Given the description of an element on the screen output the (x, y) to click on. 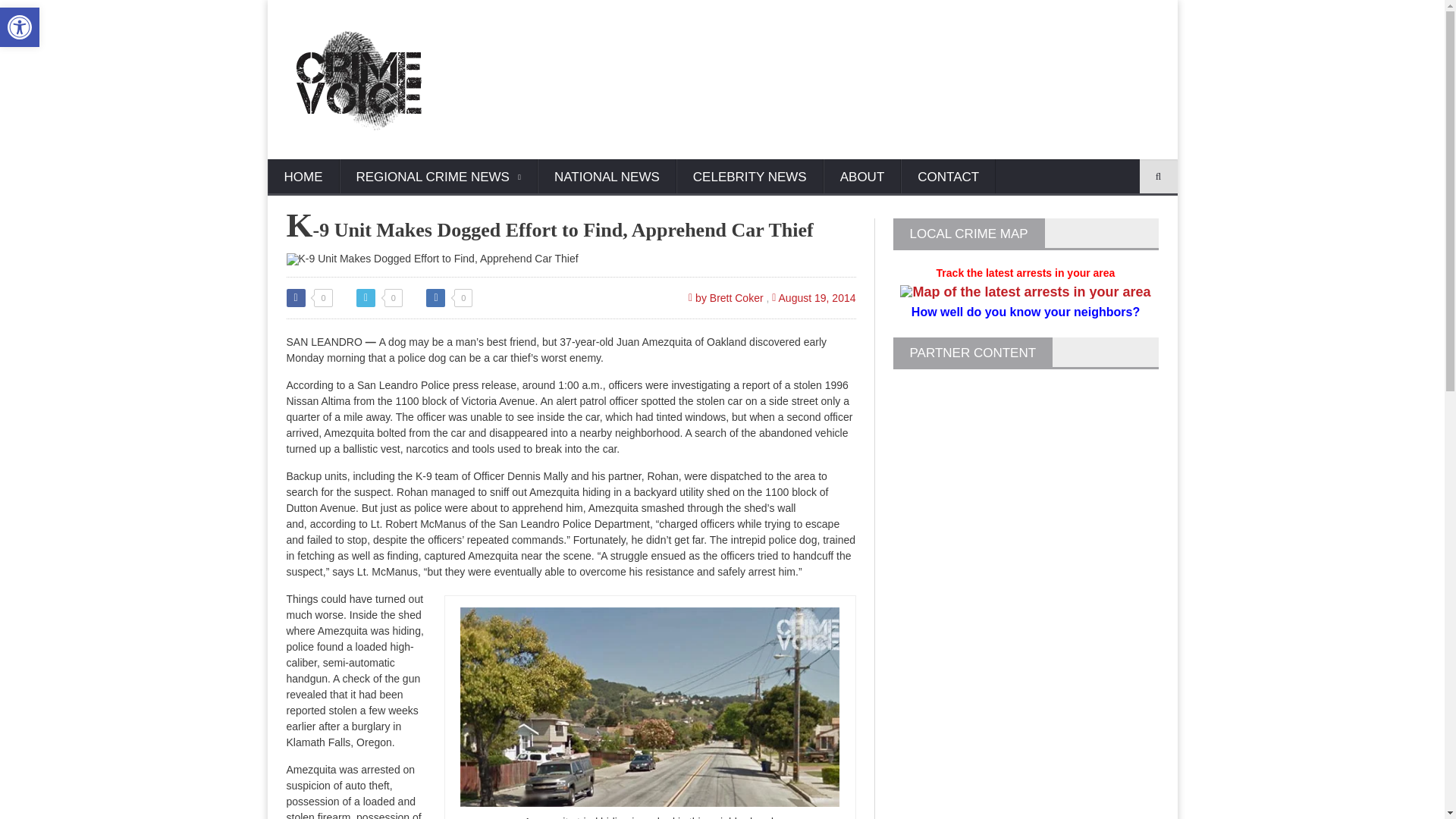
August 19, 2014 (813, 297)
Celebrity Arrest News (750, 176)
About Crime Voice (862, 176)
0 (448, 298)
CONTACT (948, 176)
0 (309, 298)
0 (379, 298)
Posts by Brett Coker (725, 297)
Accessibility Tools (19, 27)
Regional Crime News (438, 176)
NATIONAL NEWS (607, 176)
REGIONAL CRIME NEWS (438, 176)
HOME (302, 176)
by Brett Coker (725, 297)
ABOUT (862, 176)
